Given the description of an element on the screen output the (x, y) to click on. 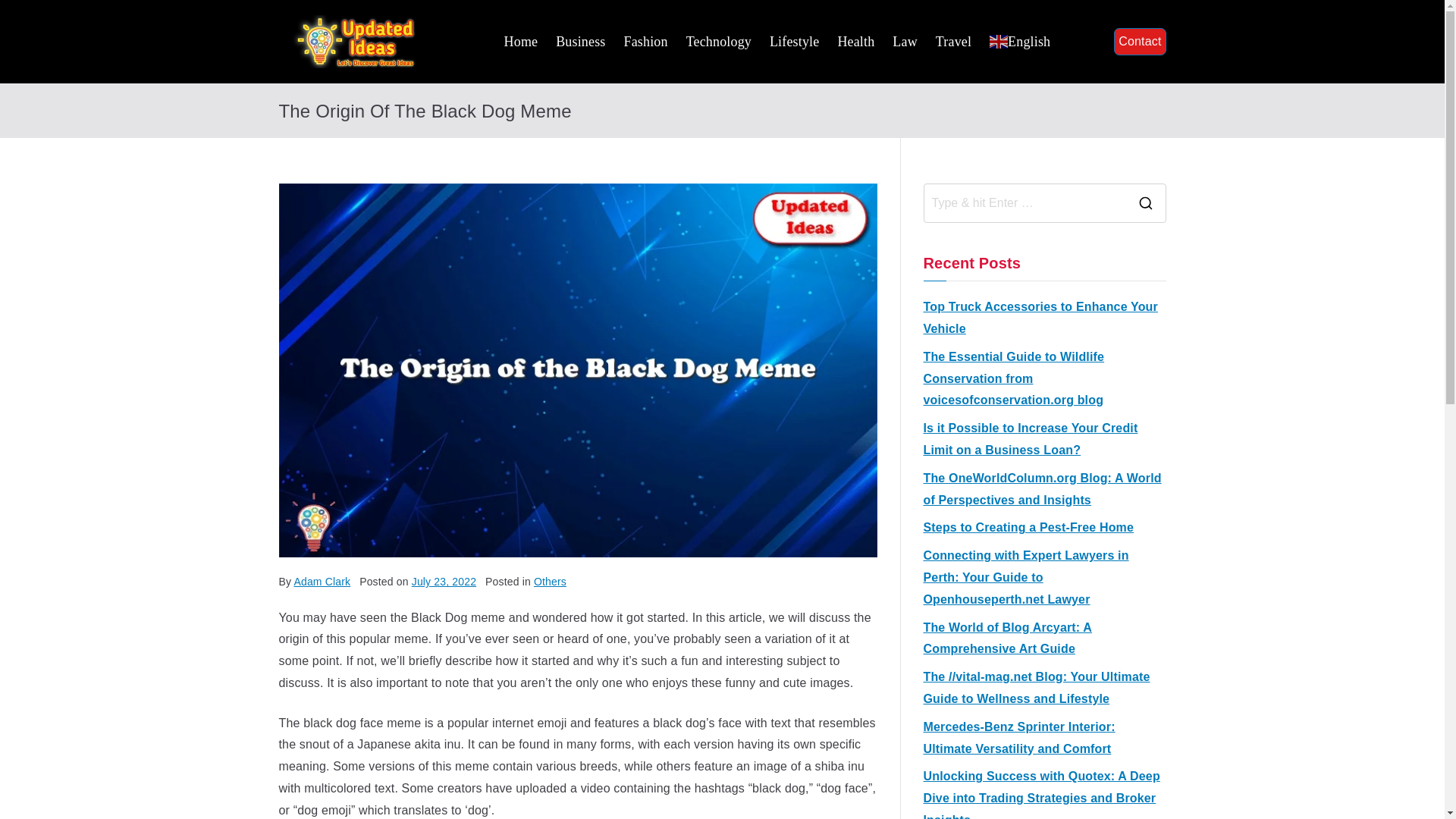
Search (26, 12)
Business (580, 41)
Health (856, 41)
Contact (1139, 41)
Home (520, 41)
Lifestyle (794, 41)
Updated Ideas (506, 53)
English (1019, 41)
Fashion (644, 41)
Travel (953, 41)
Law (904, 41)
Technology (718, 41)
Search for: (1024, 202)
